Given the description of an element on the screen output the (x, y) to click on. 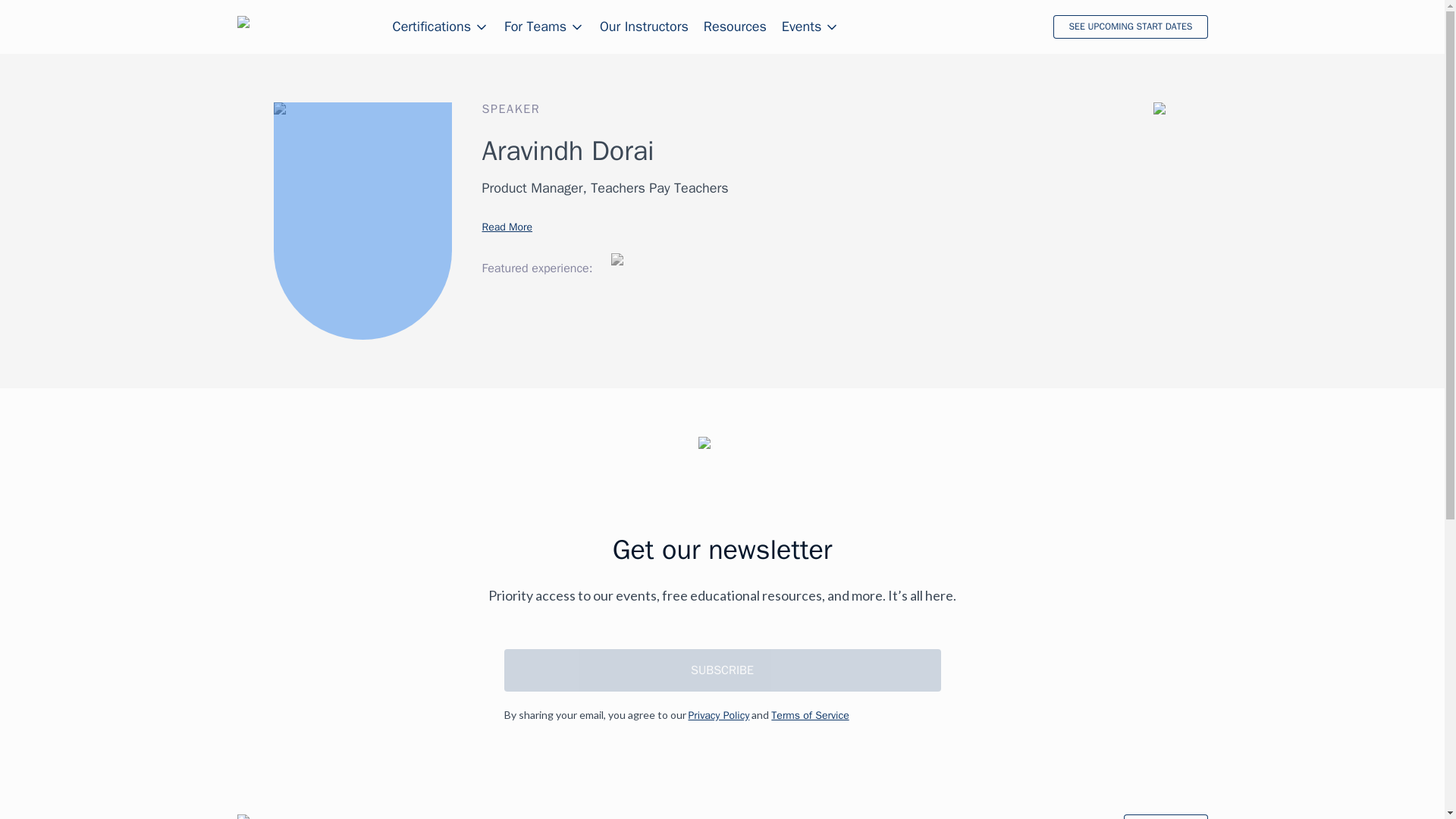
Privacy Policy (718, 715)
Our Instructors (643, 27)
Terms of Service (809, 715)
For Teams (544, 27)
CONTACT US (1165, 816)
Read More (506, 226)
SEE UPCOMING START DATES (1129, 26)
Terms of Service (809, 715)
Resources (735, 27)
Read More (506, 226)
SUBSCRIBE (721, 670)
Contact Us (1165, 816)
 See Upcoming Start Dates (1129, 26)
Certifications (441, 27)
Privacy Policy (718, 715)
